Given the description of an element on the screen output the (x, y) to click on. 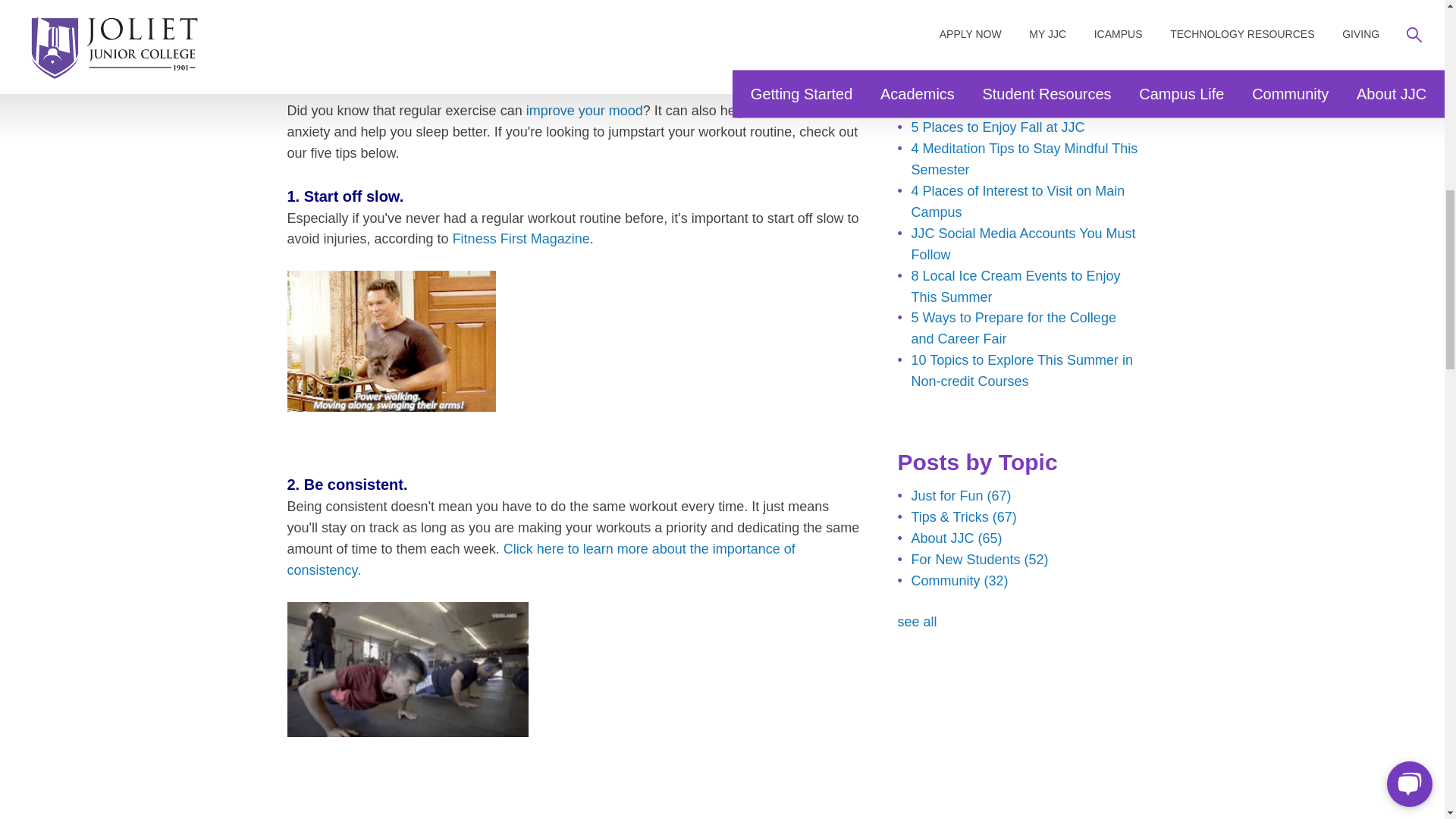
5 workout tips joliet junior college jjc haunted 5k (572, 40)
